Given the description of an element on the screen output the (x, y) to click on. 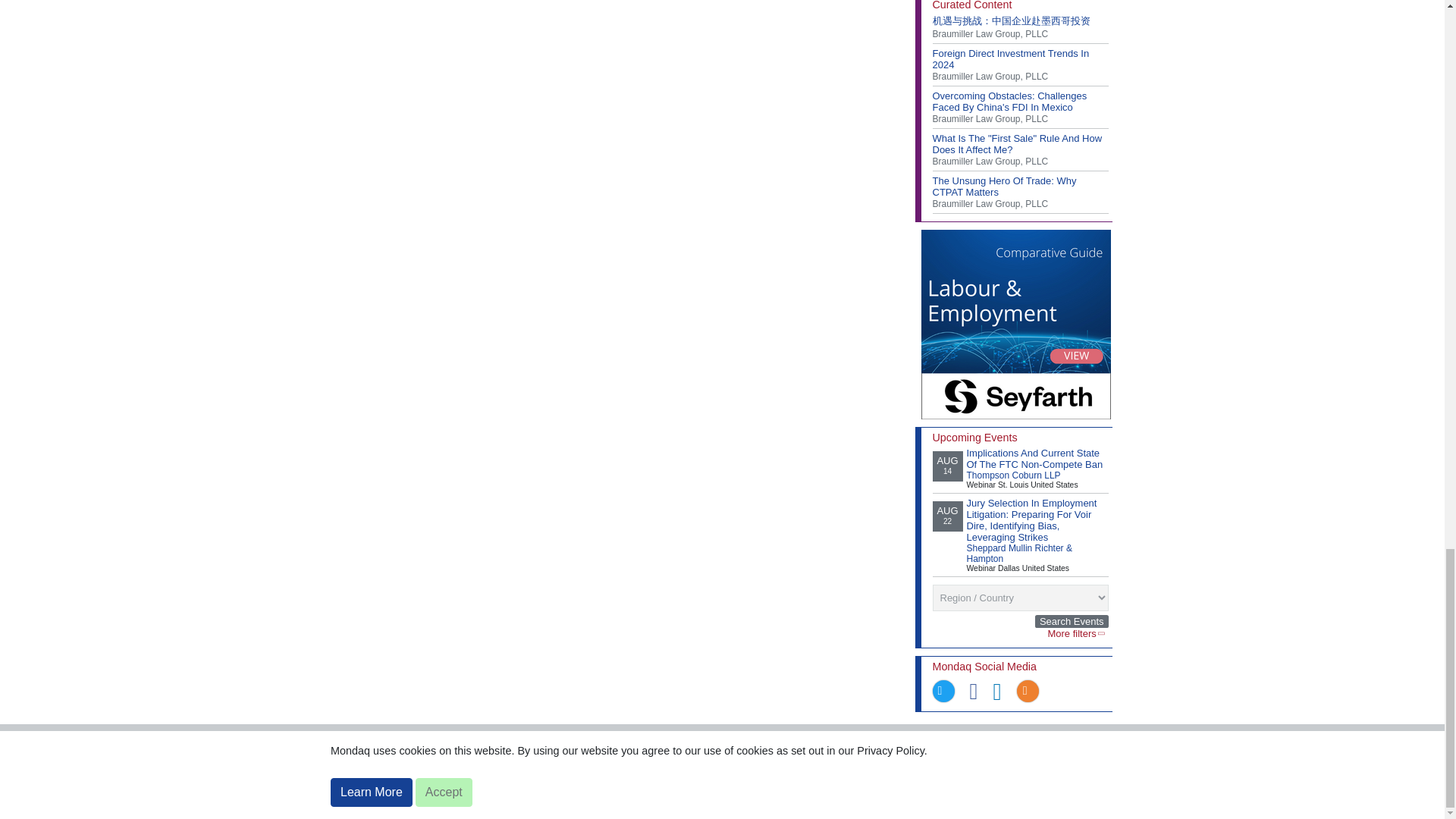
Search Events (1071, 621)
